Given the description of an element on the screen output the (x, y) to click on. 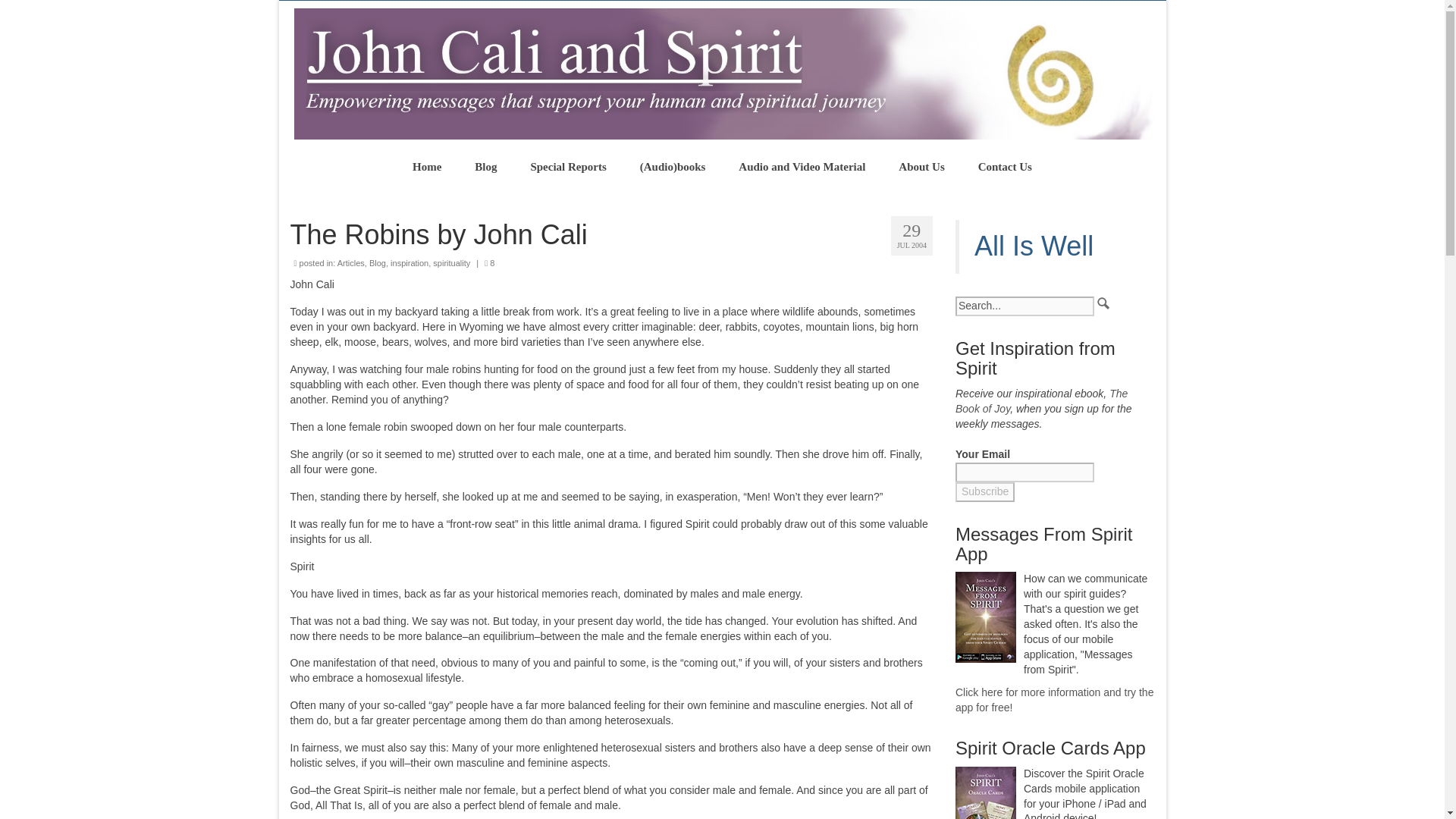
Articles (351, 262)
Blog (377, 262)
Special Reports (568, 166)
Subscribe (984, 492)
Home (427, 166)
Contact Us (1004, 166)
Search... (1024, 306)
Audio and Video Material (801, 166)
About Us (921, 166)
inspiration (409, 262)
